Given the description of an element on the screen output the (x, y) to click on. 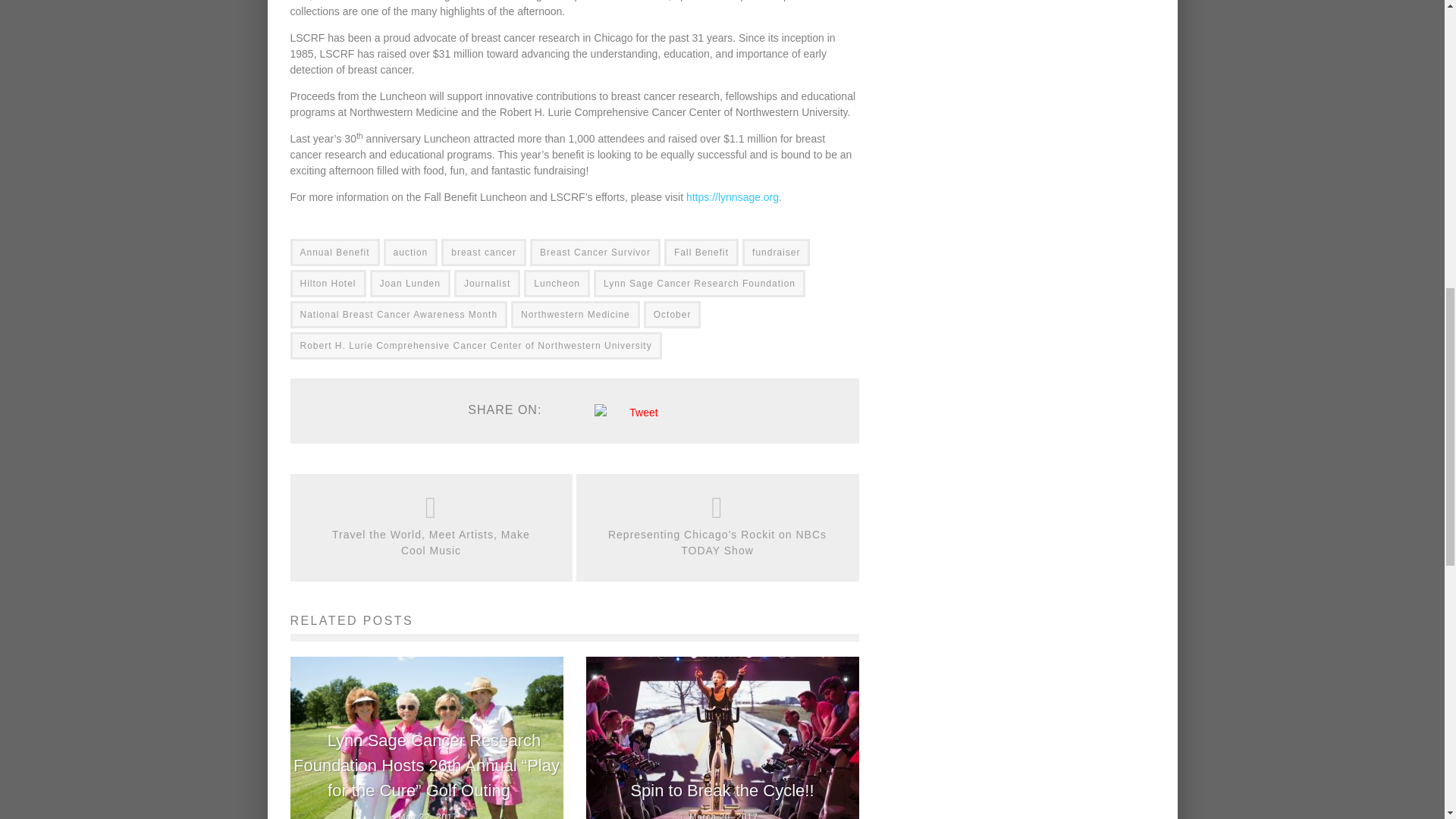
Journalist (486, 283)
fundraiser (775, 252)
Tweet (643, 412)
Travel the World, Meet Artists, Make Cool Music (430, 542)
Lynn Sage Cancer Research Foundation (699, 283)
Joan Lunden (409, 283)
Annual Benefit (333, 252)
auction (411, 252)
Fall Benefit (700, 252)
